Given the description of an element on the screen output the (x, y) to click on. 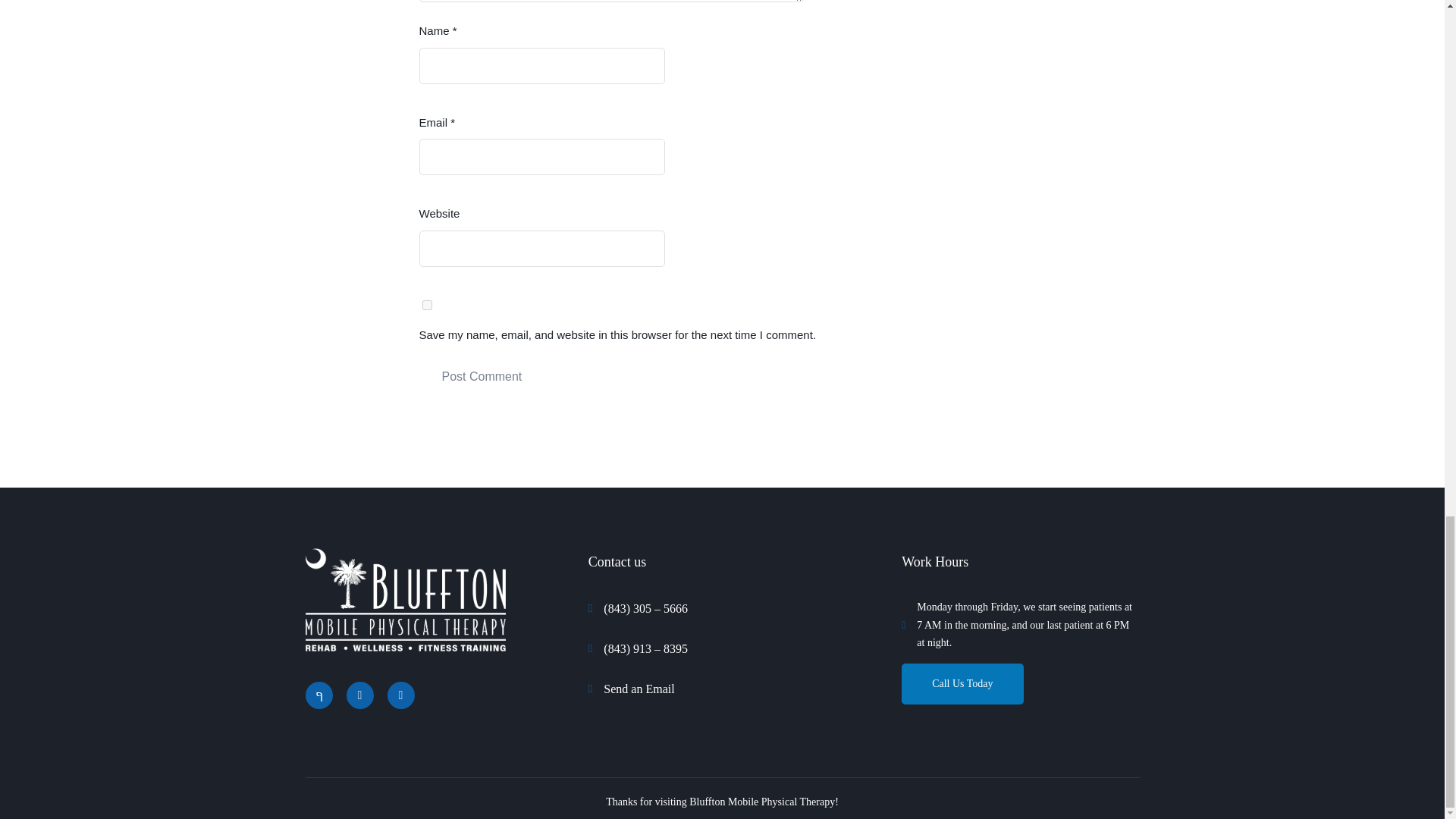
Call Us Today (962, 683)
Post Comment (481, 377)
yes (426, 305)
Post Comment (481, 377)
Send an Email (722, 688)
